Given the description of an element on the screen output the (x, y) to click on. 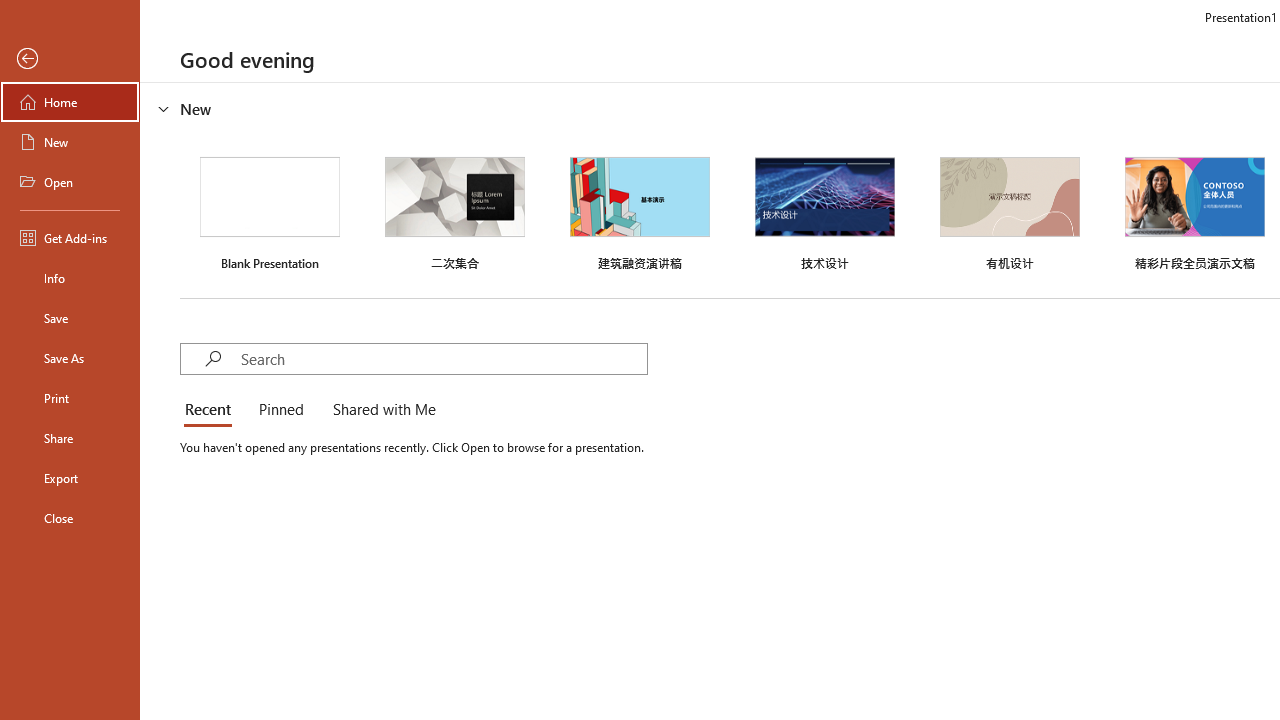
Hide or show region (164, 108)
Print (69, 398)
Pinned (280, 410)
Info (69, 277)
Save As (69, 357)
Export (69, 477)
Blank Presentation (269, 211)
Shared with Me (379, 410)
